Given the description of an element on the screen output the (x, y) to click on. 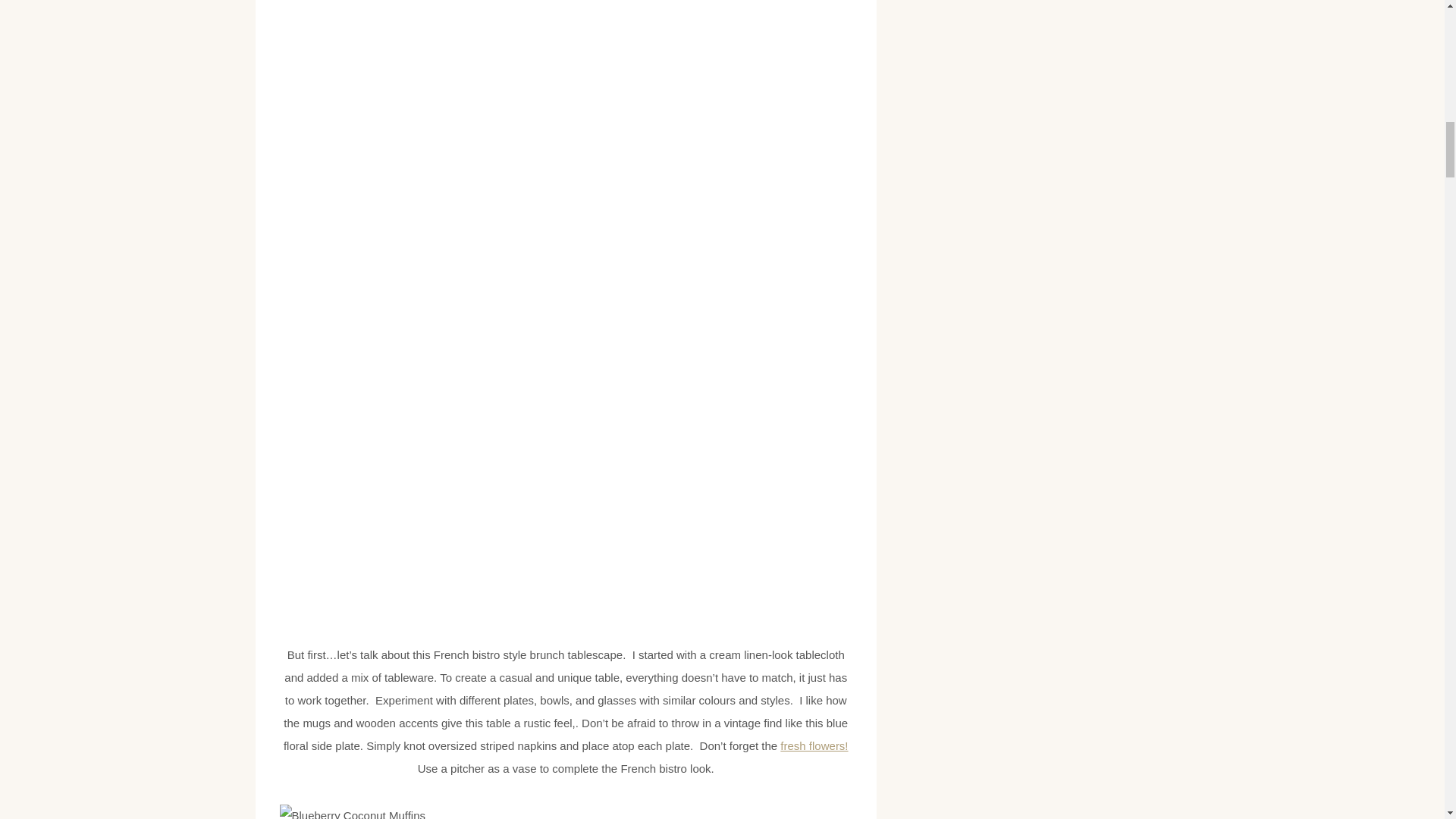
fresh flowers! (813, 745)
